Given the description of an element on the screen output the (x, y) to click on. 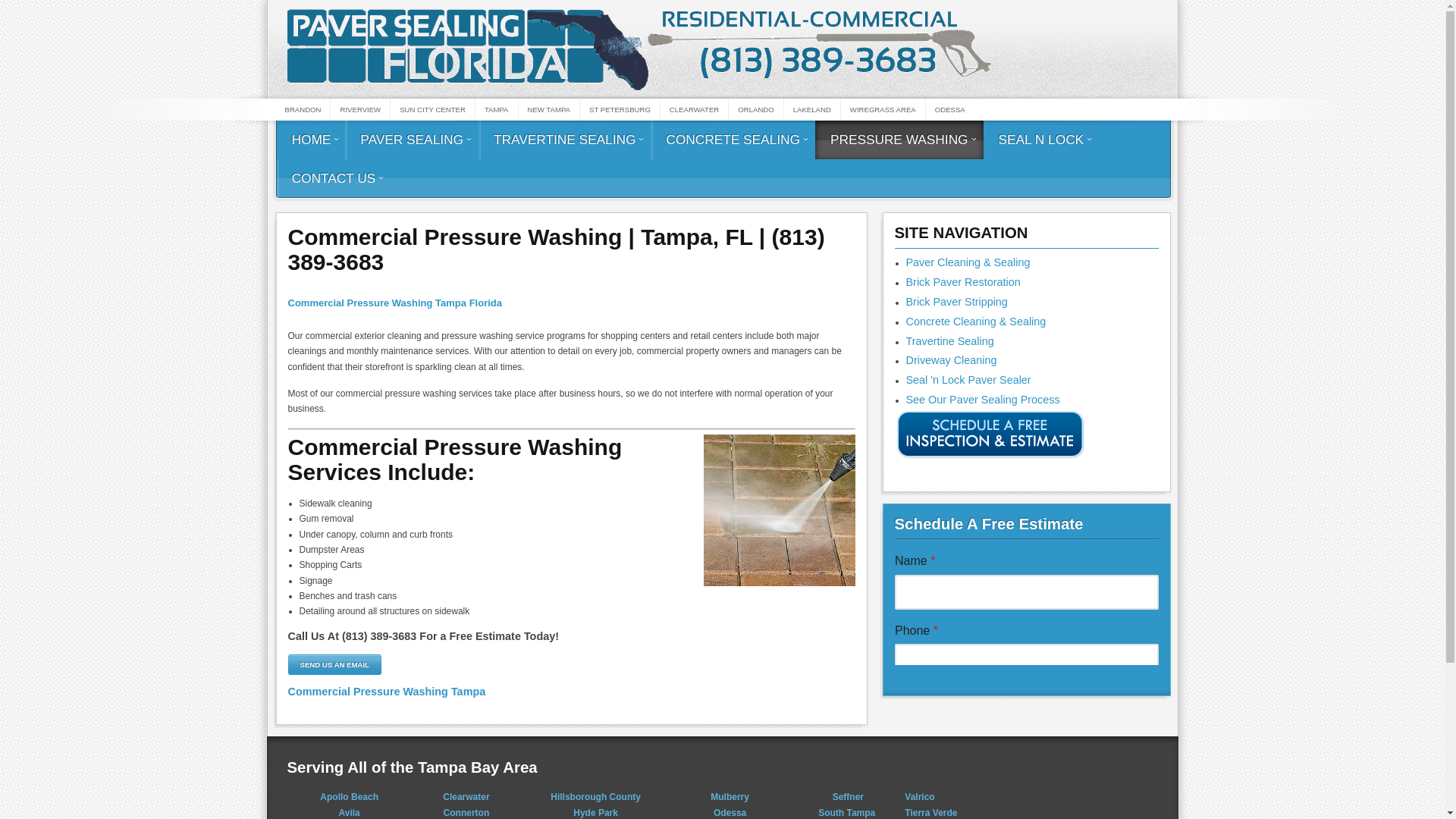
SUN CITY CENTER (432, 109)
Seal n Lock Paver Sealer Information (967, 379)
Seal 'n Lock Paver Sealer (967, 379)
PRESSURE WASHING (899, 139)
Avila (349, 812)
See Our Paver Sealing Process (982, 399)
Brick Paver Sealing Tampa Florida (967, 262)
WIREGRASS AREA (882, 109)
ST PETERSBURG (619, 109)
Tampa Commercial Pressure Washing (387, 691)
